Given the description of an element on the screen output the (x, y) to click on. 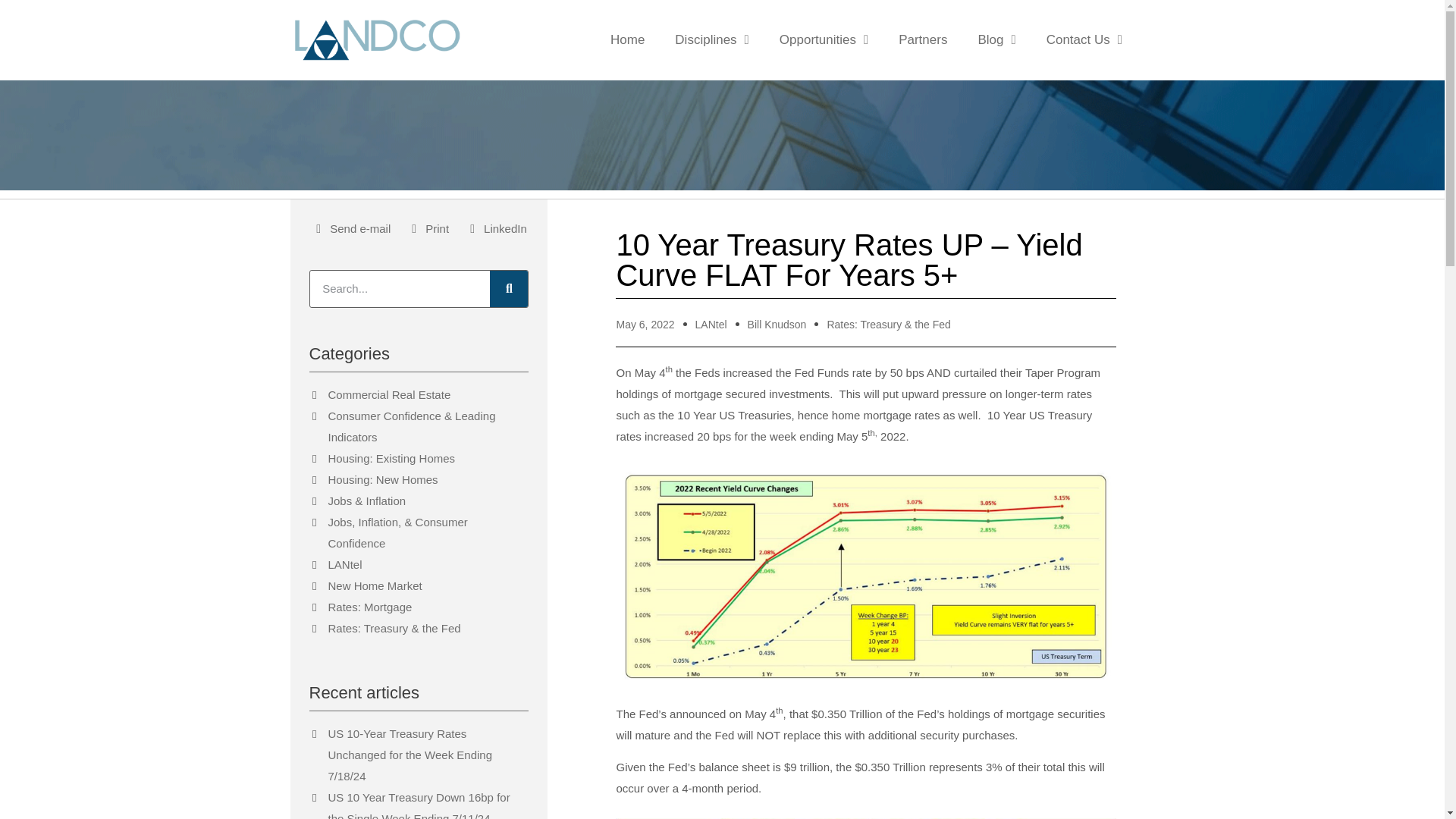
Home (627, 39)
Disciplines (710, 39)
Partners (922, 39)
Contact Us (1083, 39)
Opportunities (823, 39)
Blog (996, 39)
